Given the description of an element on the screen output the (x, y) to click on. 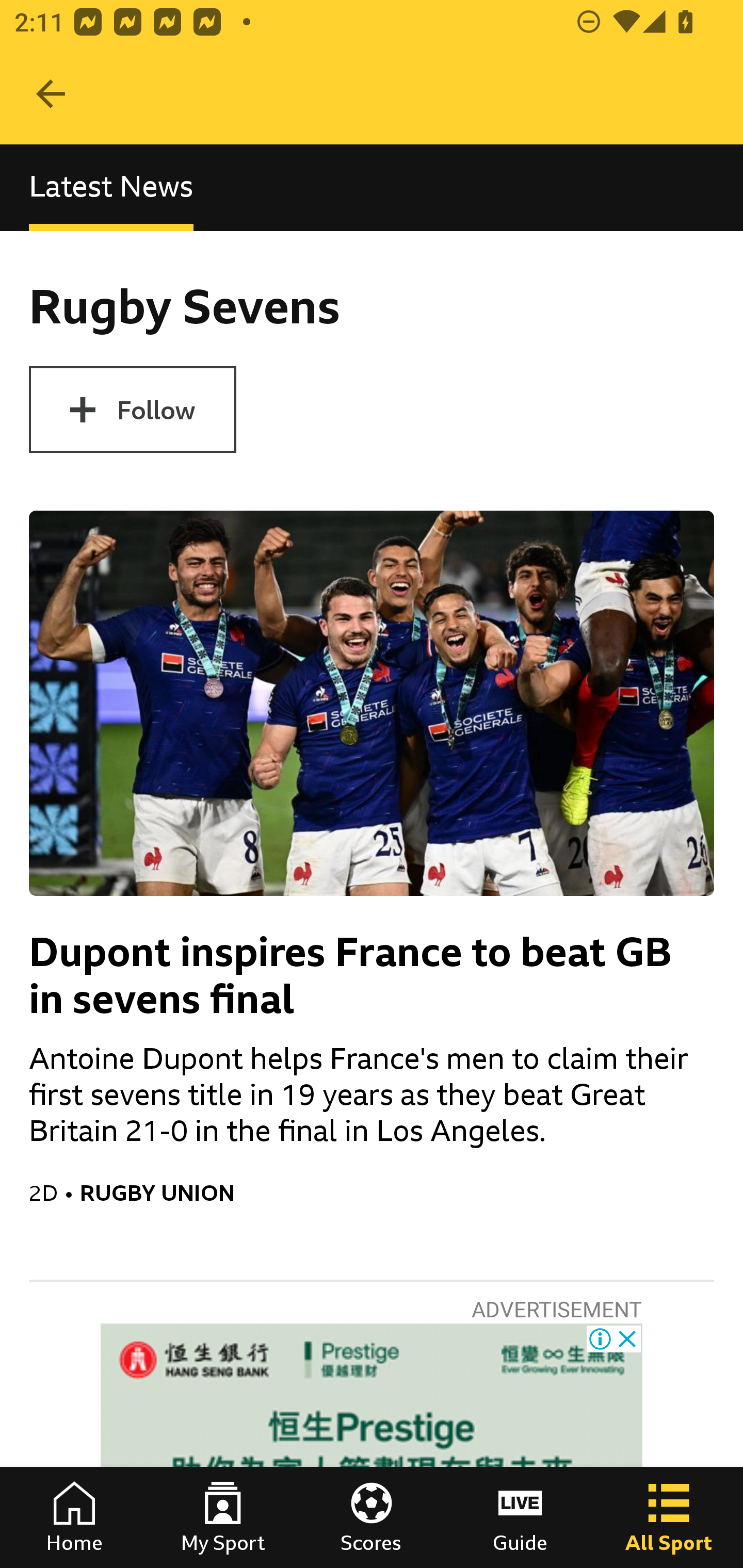
Navigate up (50, 93)
Latest News, selected Latest News (111, 187)
Follow Rugby Sevens Follow (132, 409)
RUGBY UNION In the section Rugby Union (397, 1192)
Advertisement (371, 1445)
Home (74, 1517)
My Sport (222, 1517)
Scores (371, 1517)
Guide (519, 1517)
